Given the description of an element on the screen output the (x, y) to click on. 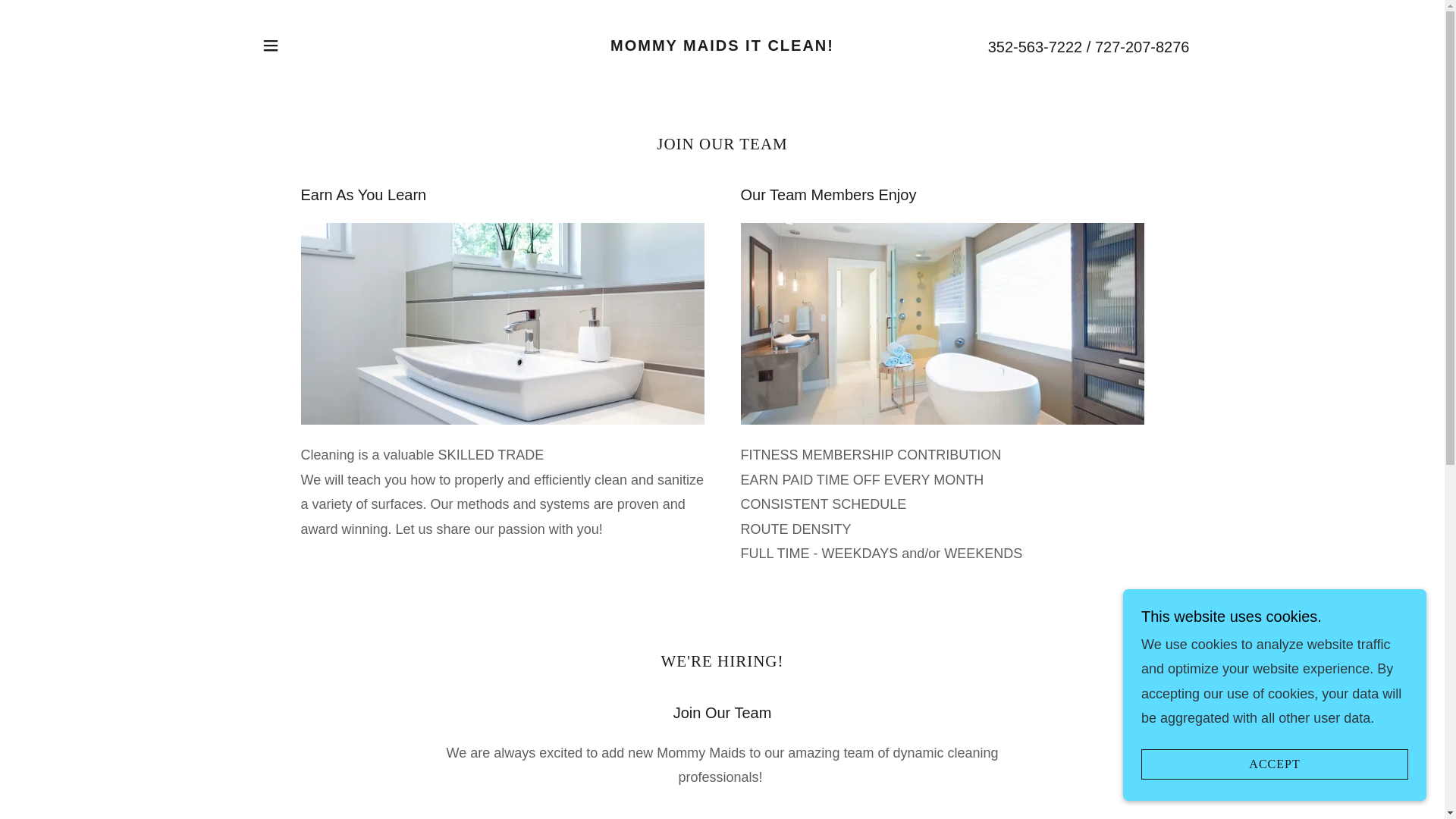
ACCEPT (1274, 764)
727-207-8276 (1141, 45)
MOMMY MAIDS IT CLEAN! (721, 46)
352-563-7222 (1035, 45)
Mommy Maids It Clean! (721, 46)
